Given the description of an element on the screen output the (x, y) to click on. 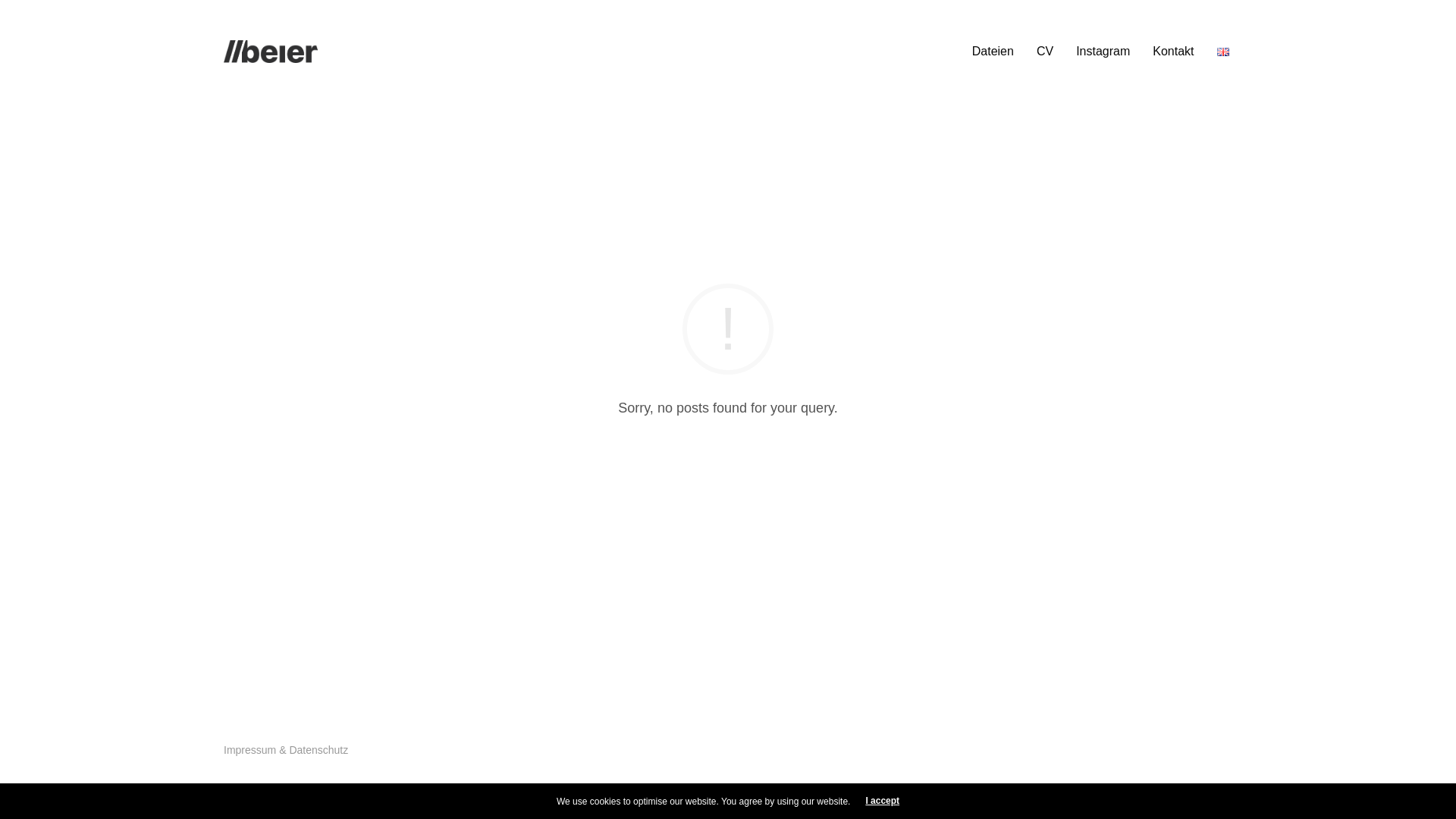
Instagram Element type: text (1102, 51)
Dateien Element type: text (992, 51)
en Element type: hover (1223, 51)
CV Element type: text (1044, 51)
I accept Element type: text (882, 800)
Datenschutz Element type: text (318, 749)
Kontakt Element type: text (1172, 51)
Impressum Element type: text (249, 749)
desktop Element type: hover (270, 51)
